Given the description of an element on the screen output the (x, y) to click on. 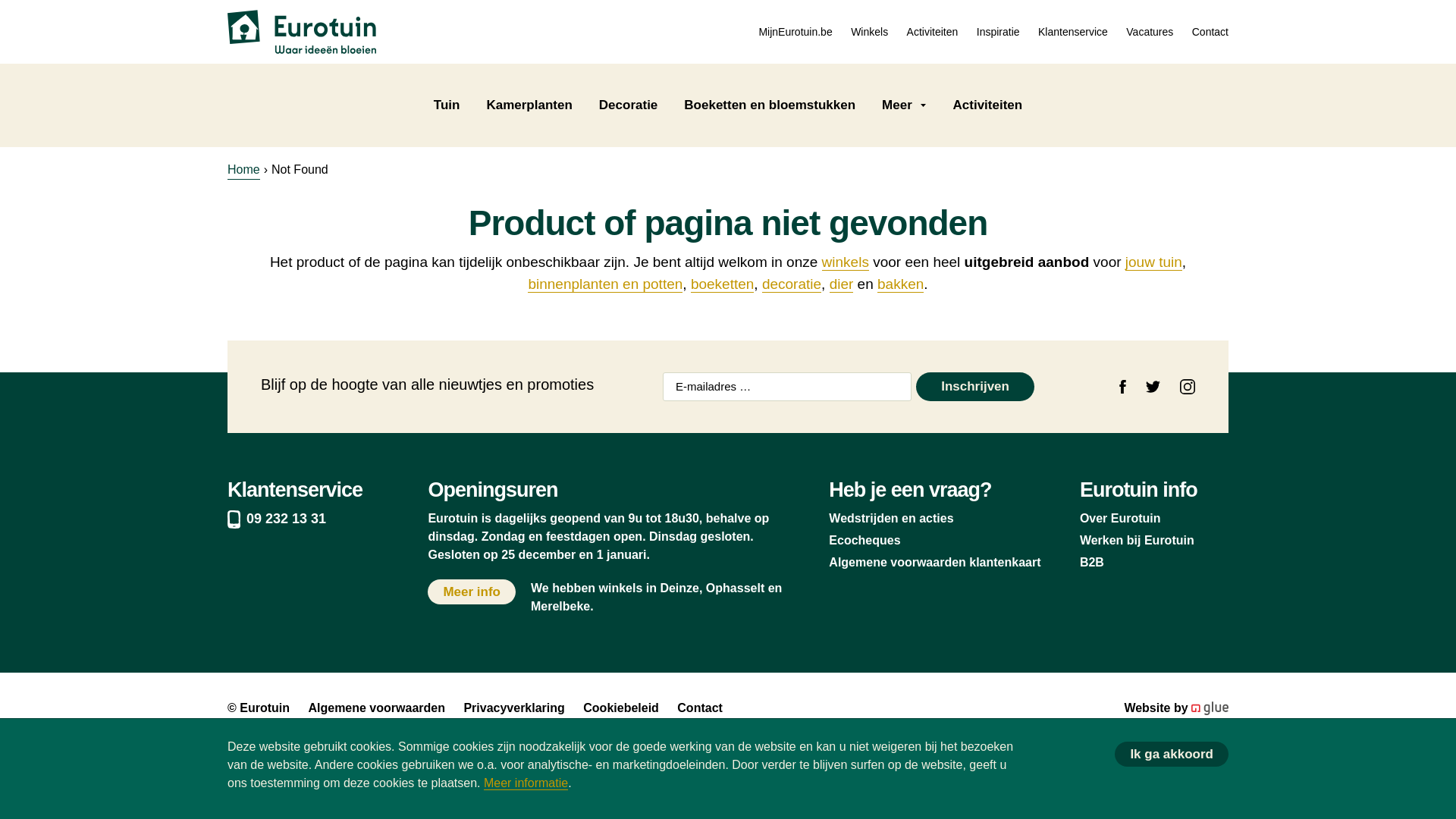
Activiteiten (987, 104)
Klantenservice (1073, 31)
Tuin (446, 104)
Contact (1210, 31)
Vacatures (1149, 31)
Decoratie (628, 104)
Inspiratie (998, 31)
Meer (903, 104)
MijnEurotuin.be (794, 31)
Activiteiten (932, 31)
Boeketten en bloemstukken (769, 104)
Winkels (869, 31)
Kamerplanten (528, 104)
